Given the description of an element on the screen output the (x, y) to click on. 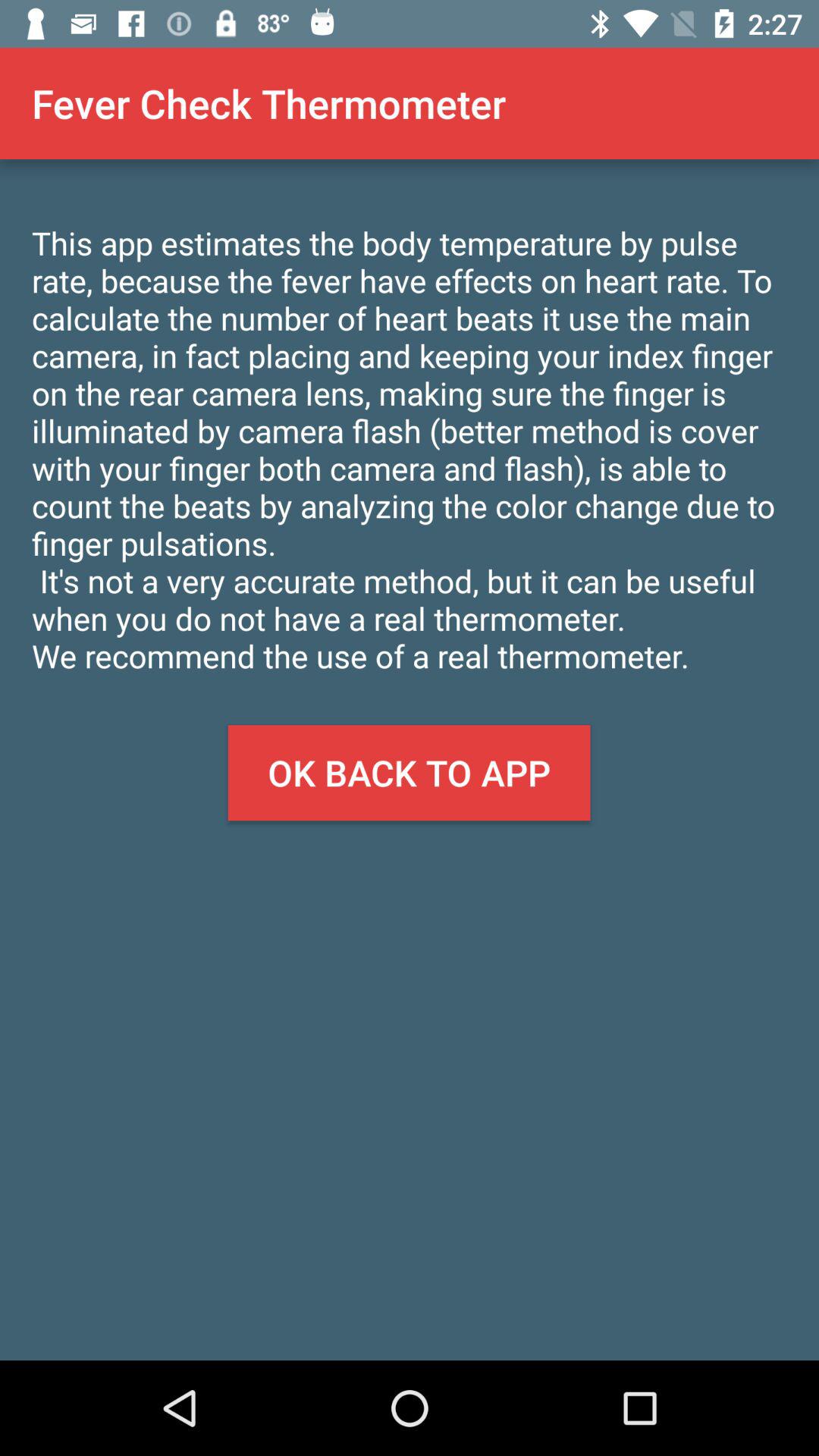
select the ok back to at the center (409, 772)
